Given the description of an element on the screen output the (x, y) to click on. 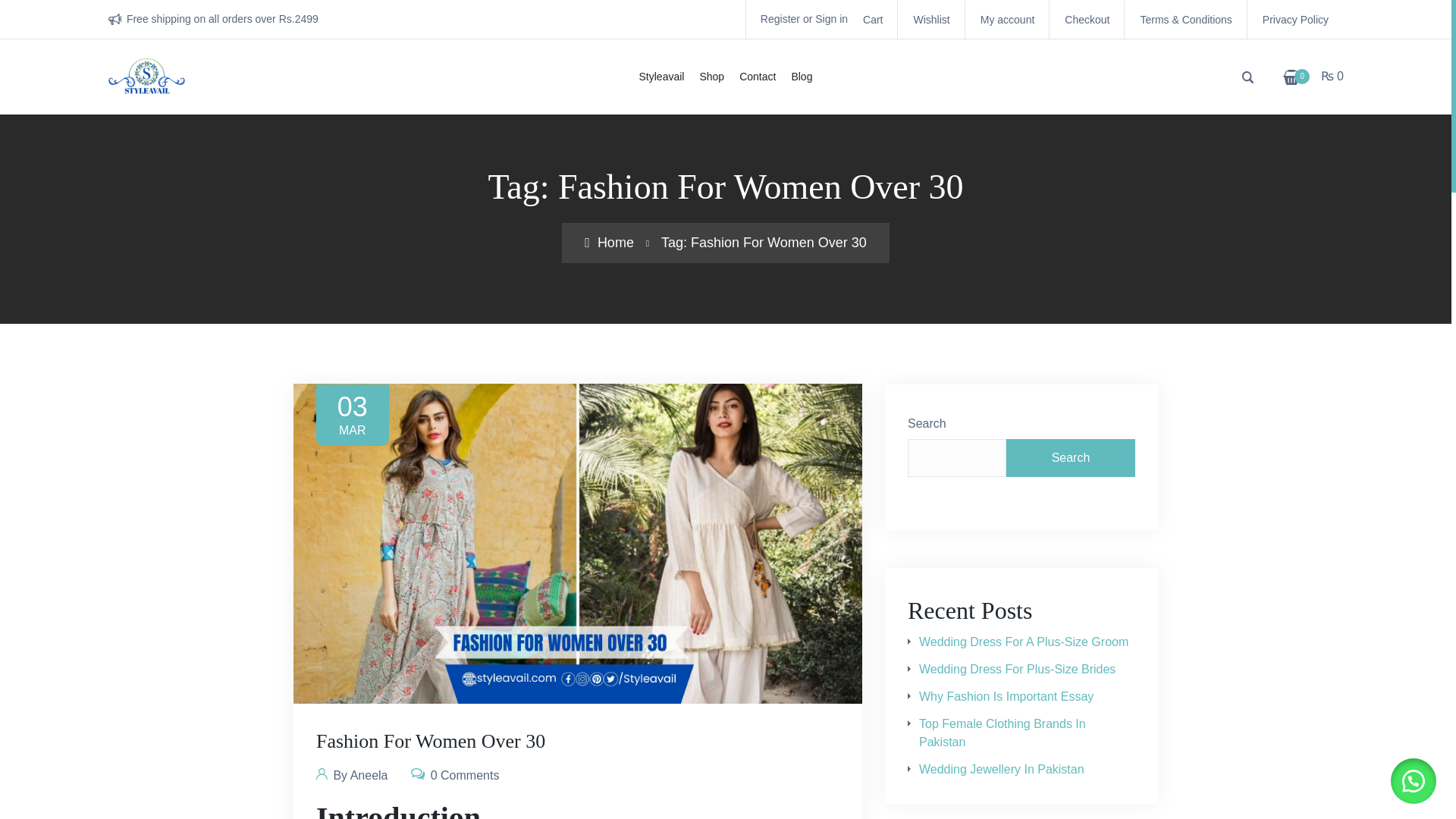
Top Female Clothing Brands In Pakistan (1002, 732)
Home (609, 242)
0 Comments (454, 773)
Wishlist (930, 19)
Wedding Jewellery In Pakistan (1001, 768)
Wedding Dress For A Plus-Size Groom (1023, 641)
Styleavail (662, 76)
By Aneela (351, 773)
Privacy Policy (1294, 19)
Blog (801, 76)
My account (1007, 19)
Wedding Dress For Plus-Size Brides (1016, 668)
Fashion For Women Over 30 (429, 741)
Shop (711, 76)
Why Fashion Is Important Essay (1005, 696)
